Given the description of an element on the screen output the (x, y) to click on. 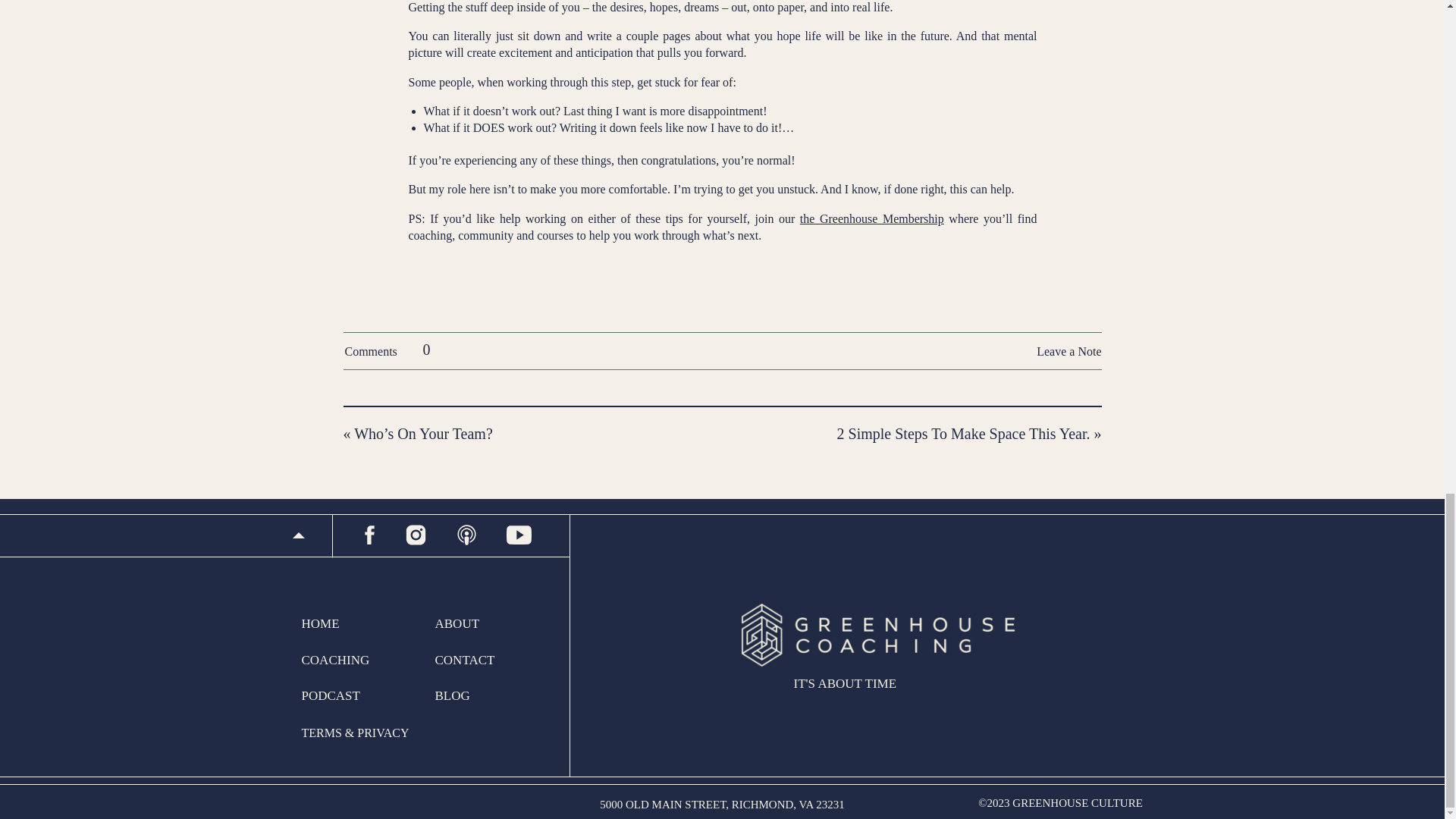
Leave a Note (980, 353)
the Greenhouse Membership (871, 218)
Comments (378, 351)
2 Simple Steps To Make Space This Year. (963, 433)
